Given the description of an element on the screen output the (x, y) to click on. 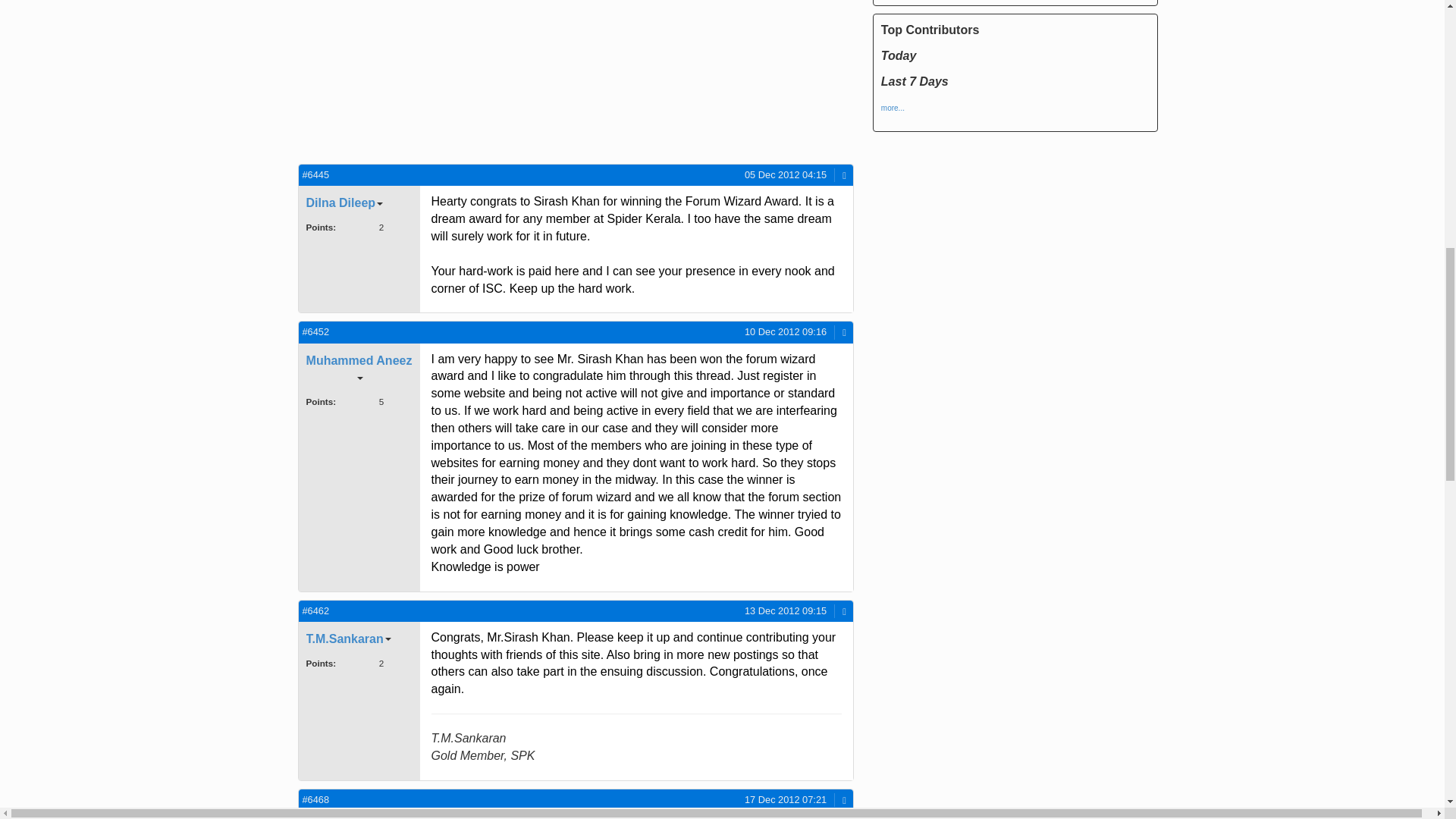
Advertisement (432, 79)
